Given the description of an element on the screen output the (x, y) to click on. 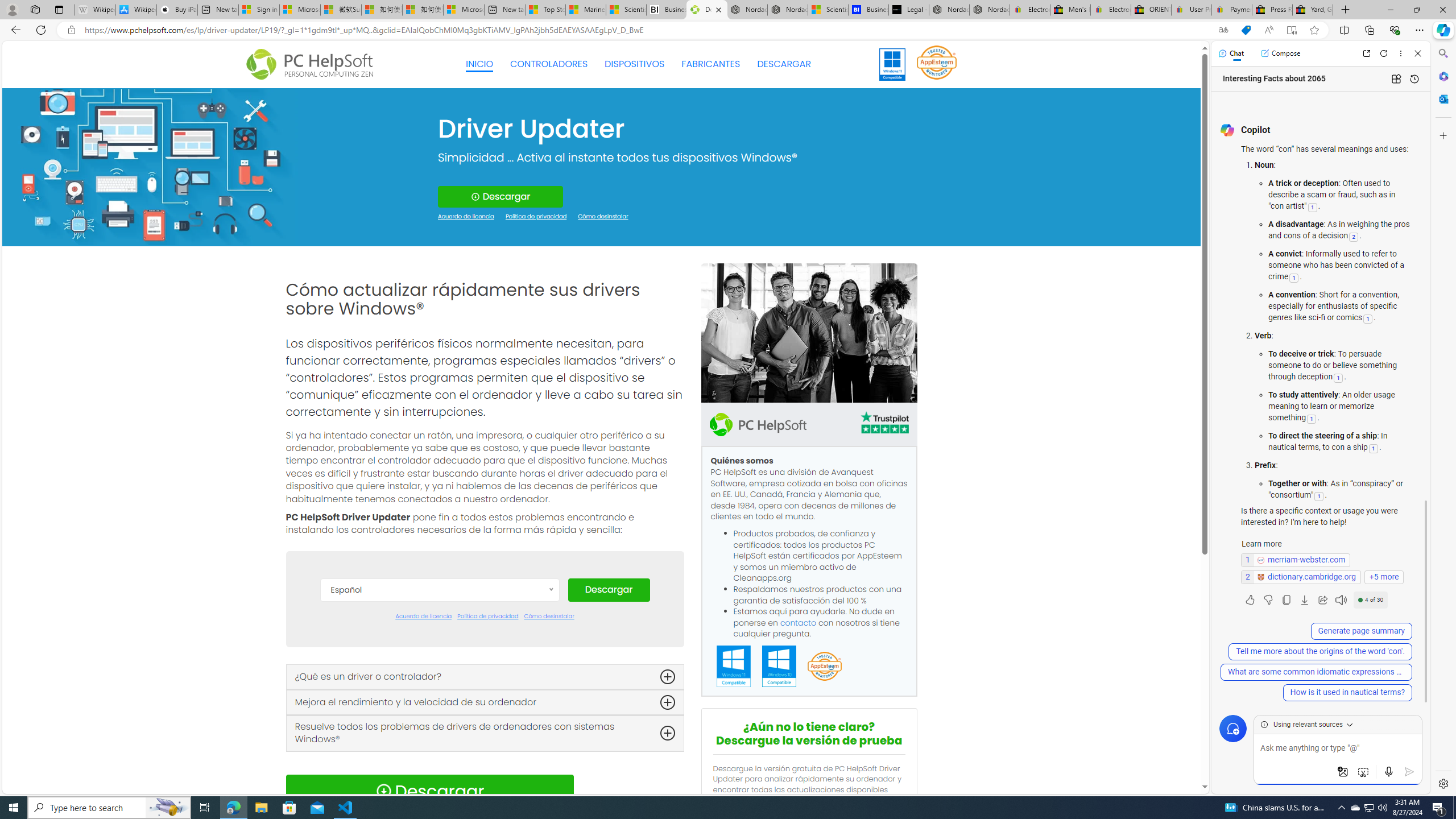
TrustPilot (884, 422)
team (808, 332)
Payments Terms of Use | eBay.com (1231, 9)
Sign in to your Microsoft account (258, 9)
INICIO (479, 64)
FABRICANTES (711, 64)
Compose (1280, 52)
DISPOSITIVOS (634, 64)
Marine life - MSN (585, 9)
